Given the description of an element on the screen output the (x, y) to click on. 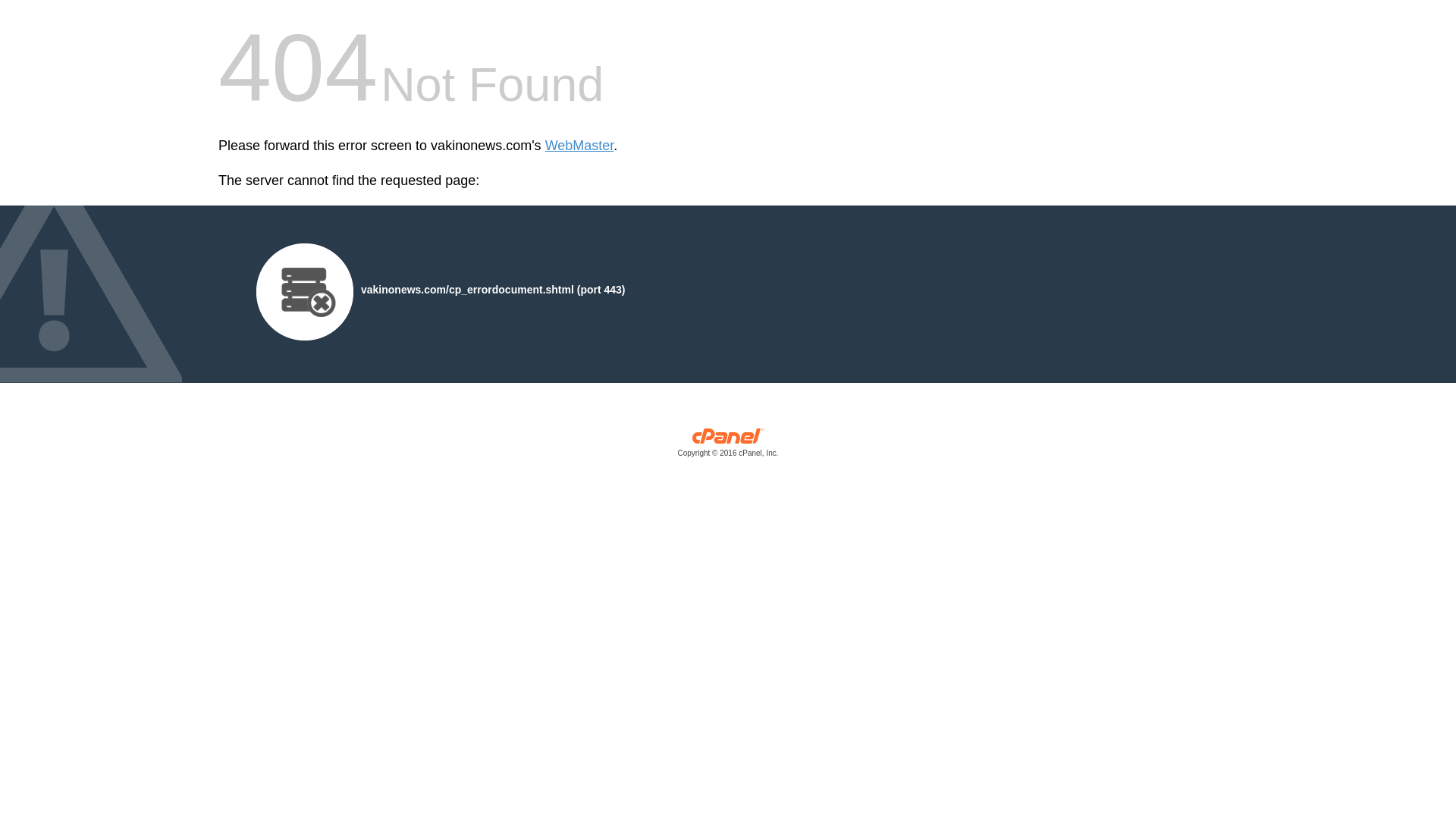
WebMaster (579, 145)
cPanel, Inc. (727, 446)
